Given the description of an element on the screen output the (x, y) to click on. 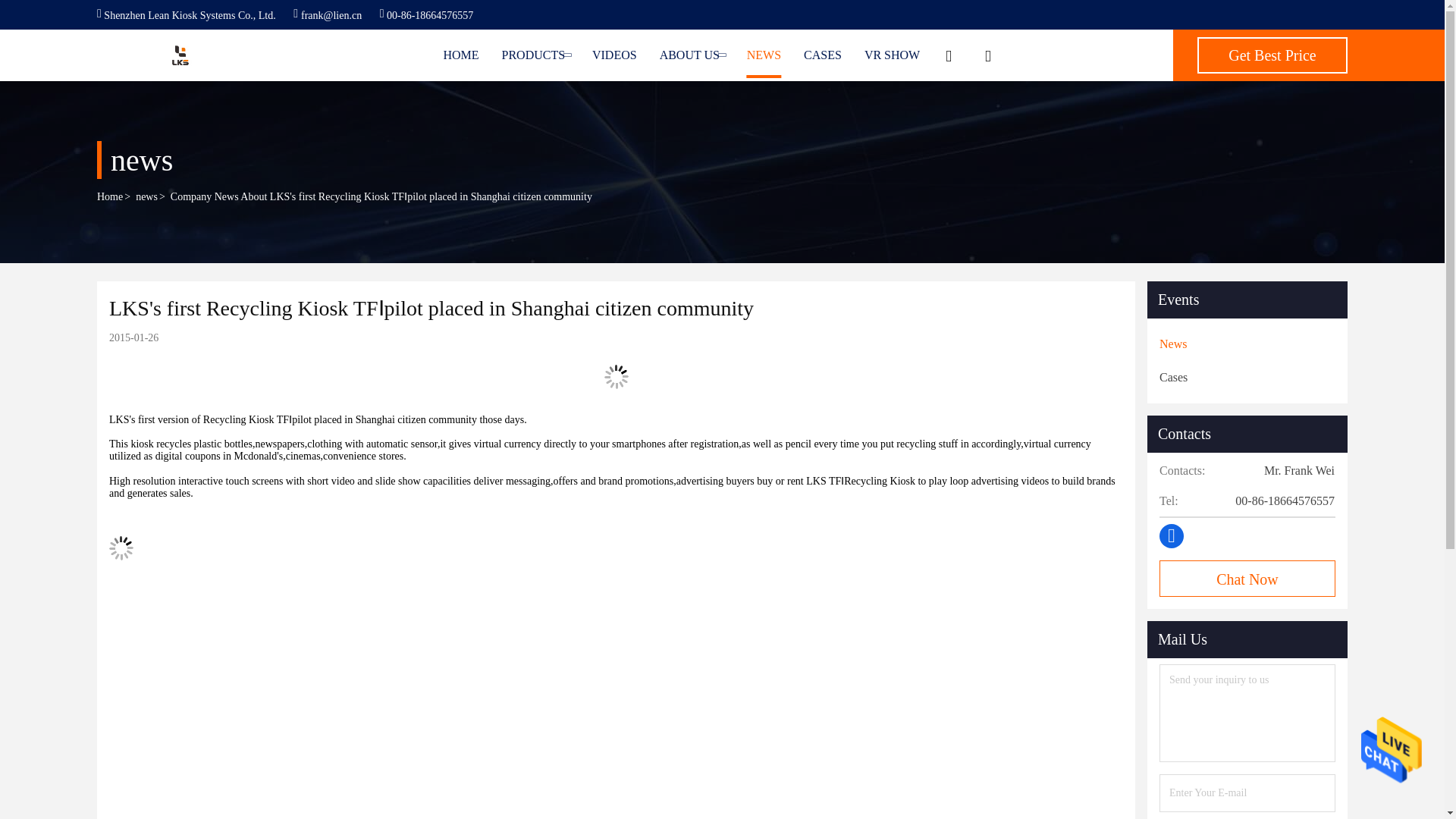
Products (535, 55)
VR SHOW (892, 55)
00-86-18664576557 (427, 15)
ABOUT US (691, 55)
PRODUCTS (535, 55)
About Us (691, 55)
